Given the description of an element on the screen output the (x, y) to click on. 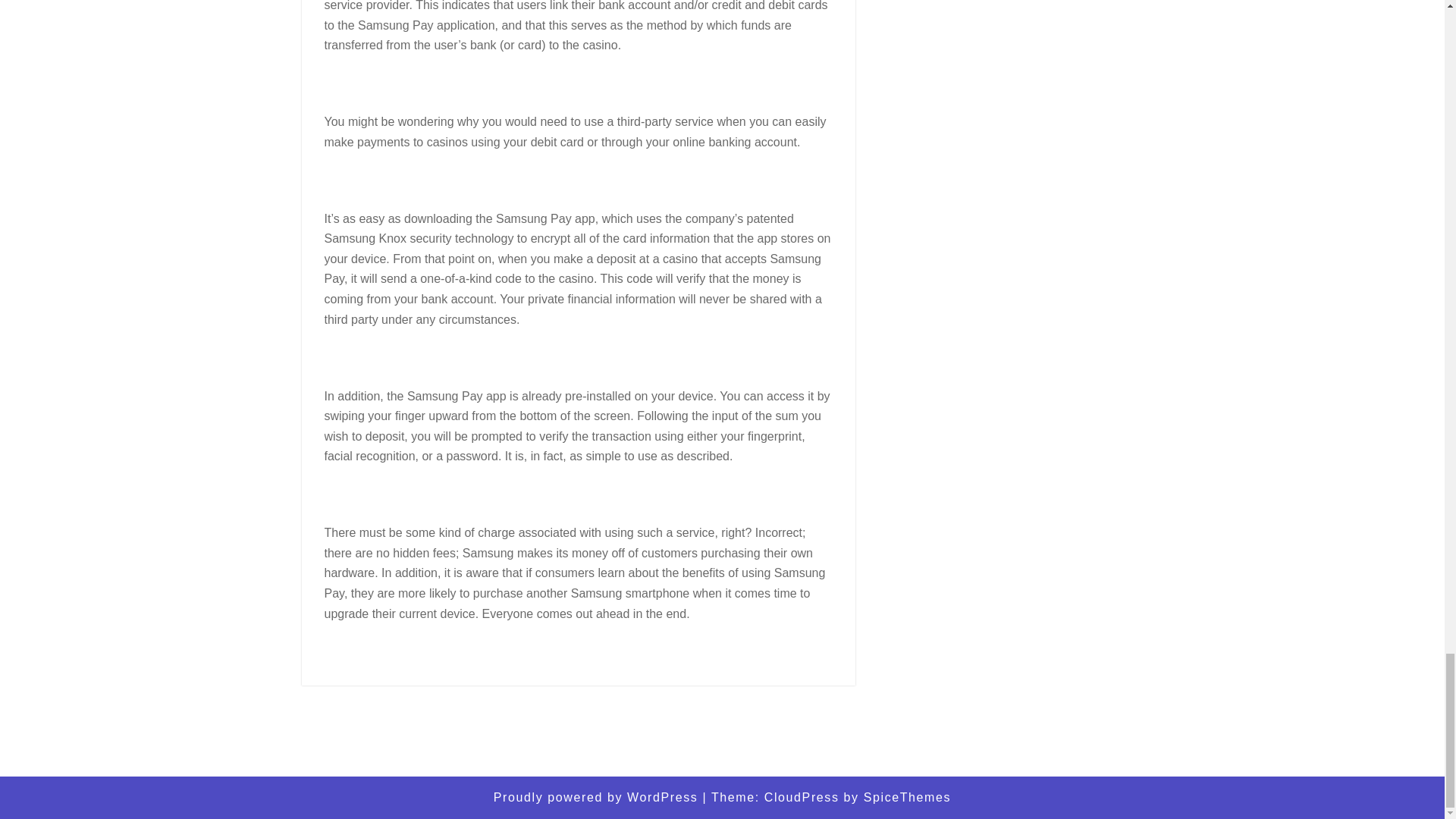
SpiceThemes (906, 797)
WordPress (662, 797)
CloudPress (802, 797)
